Given the description of an element on the screen output the (x, y) to click on. 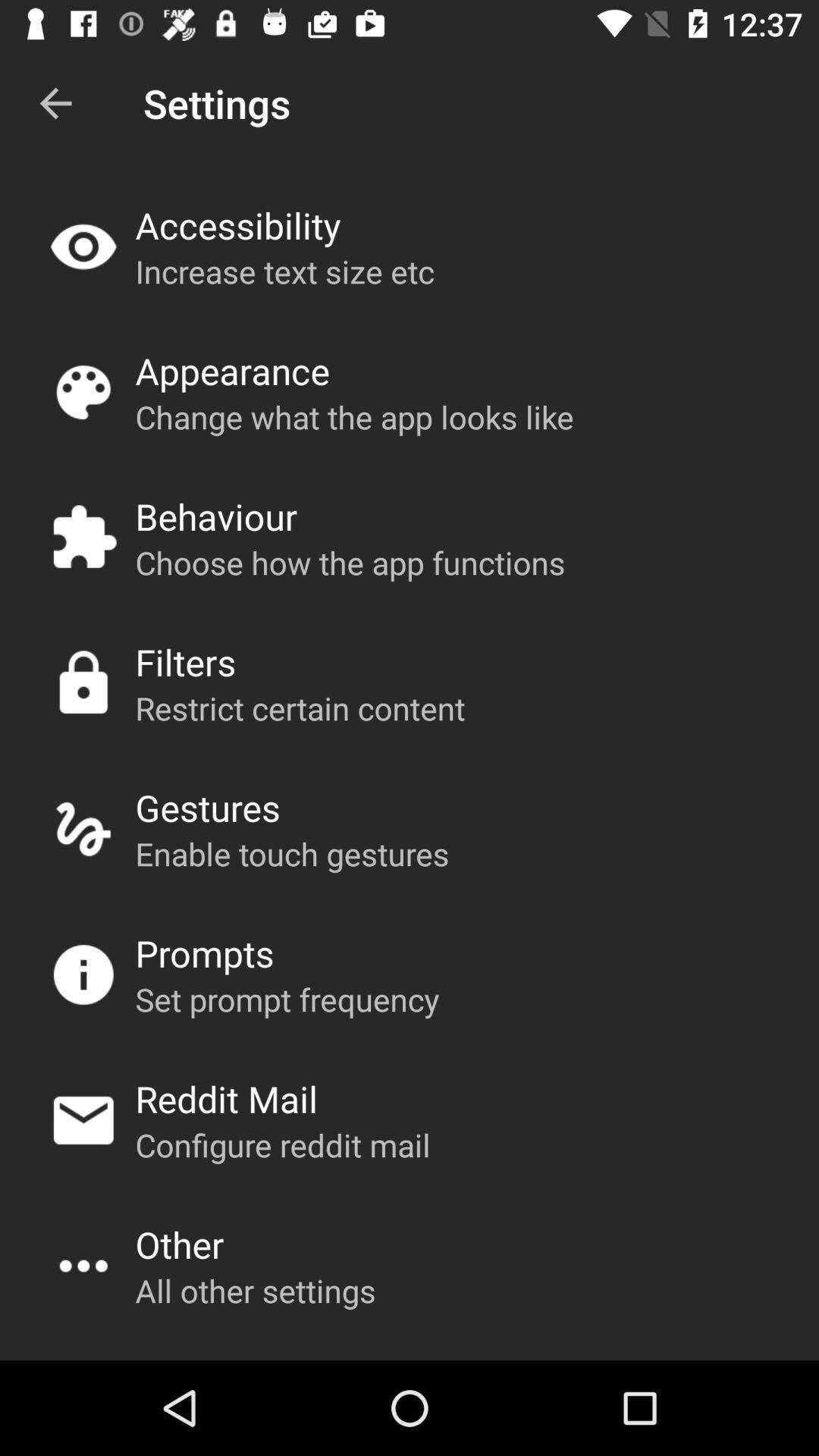
press item above the behaviour item (354, 416)
